Given the description of an element on the screen output the (x, y) to click on. 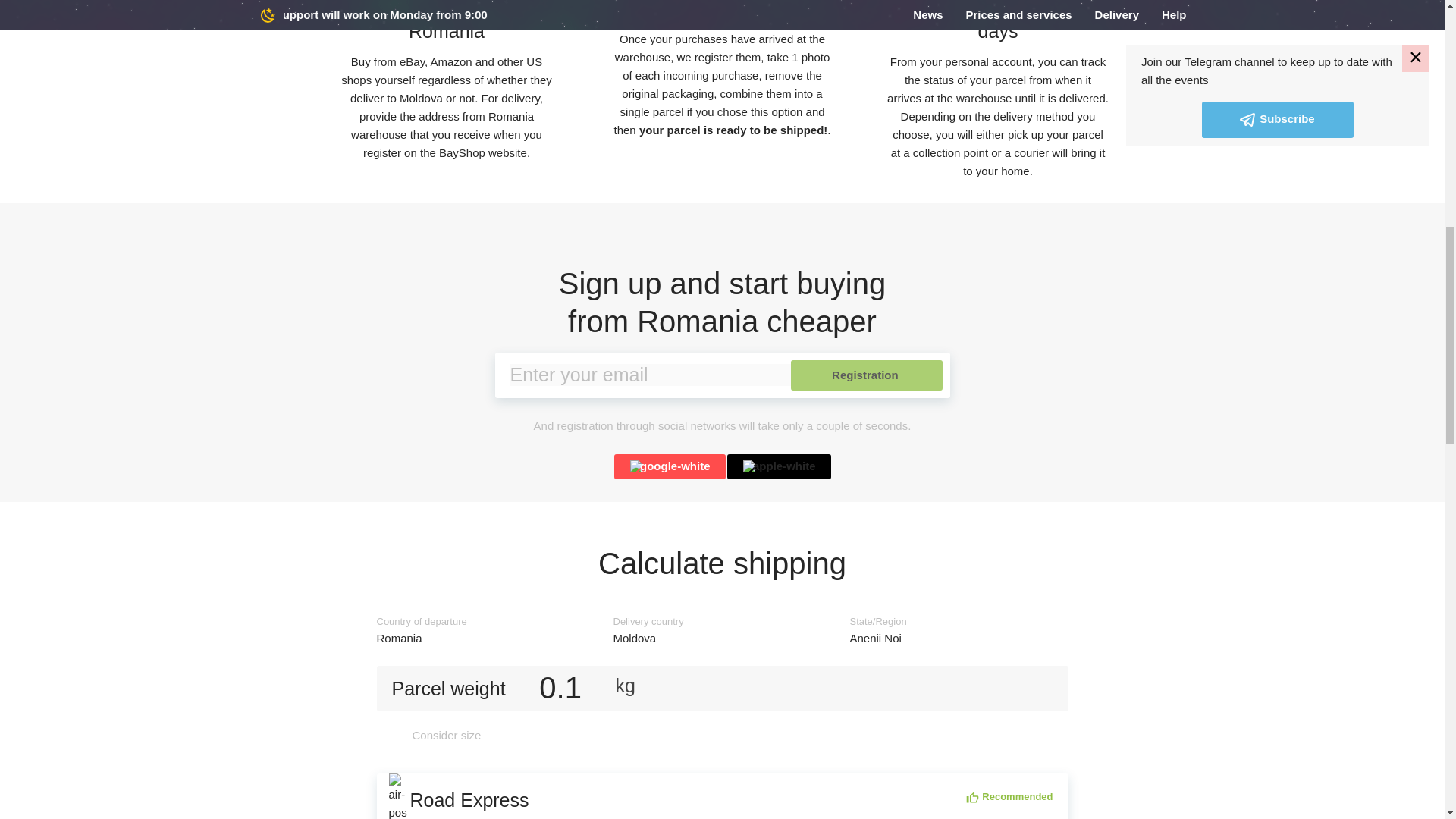
Anenii Noi (957, 638)
0.1 (484, 638)
Moldova (560, 687)
kg (721, 638)
